Given the description of an element on the screen output the (x, y) to click on. 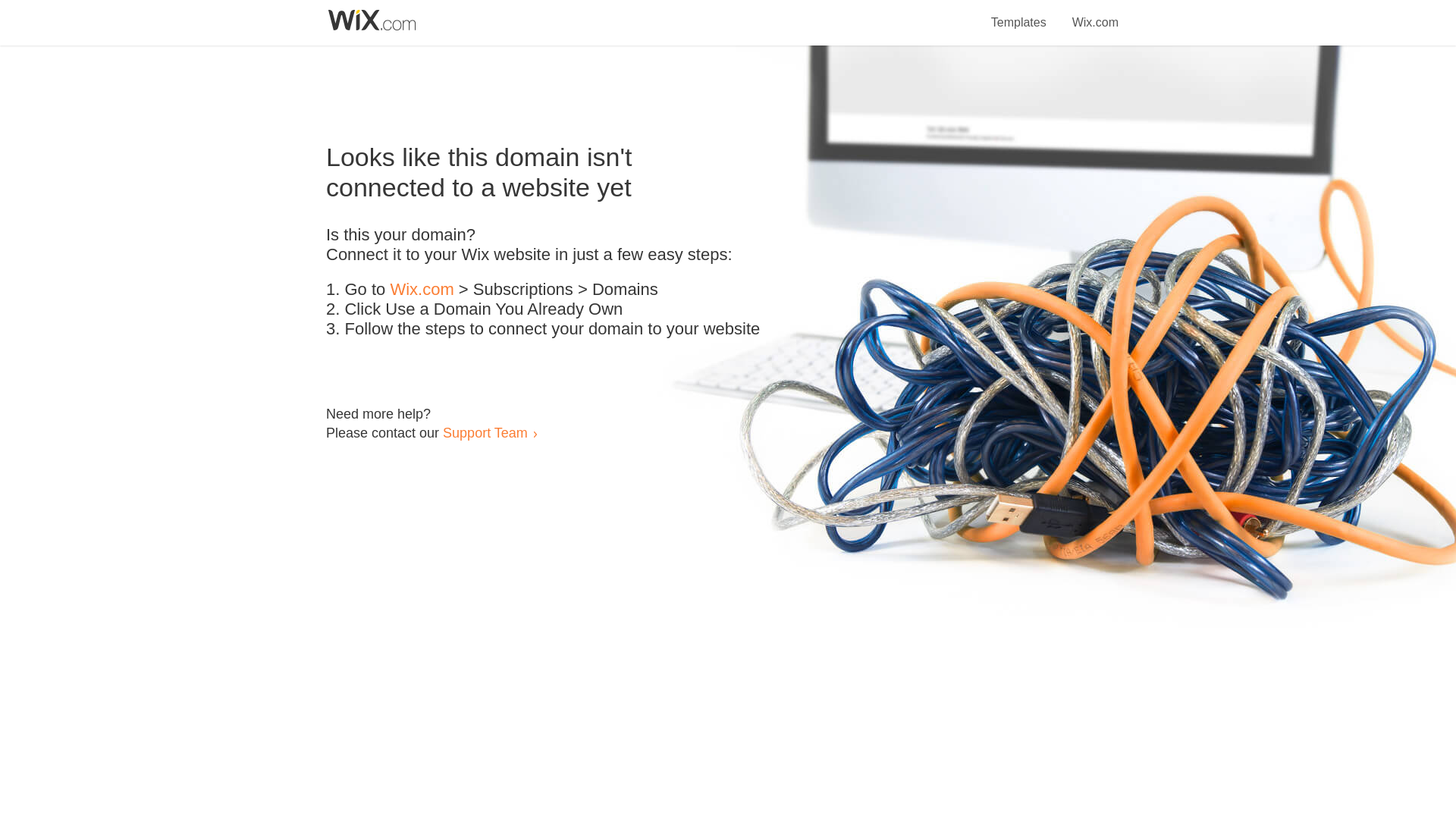
Wix.com (1095, 14)
Support Team (484, 432)
Wix.com (421, 289)
Templates (1018, 14)
